Given the description of an element on the screen output the (x, y) to click on. 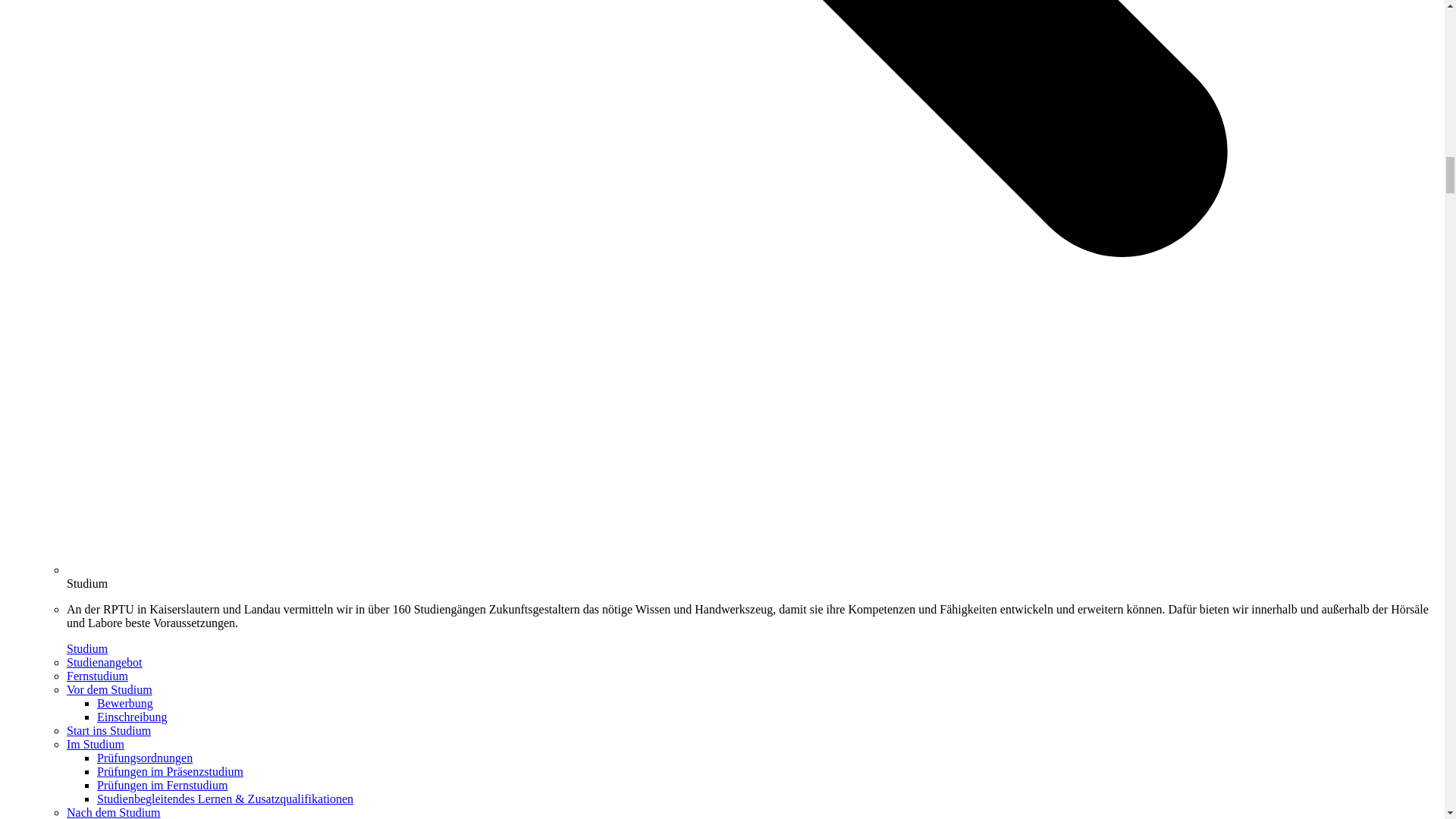
Studium (86, 648)
Vor dem Studium (109, 689)
Start ins Studium (108, 730)
Im Studium (94, 744)
Studienangebot (104, 662)
Bewerbung (124, 703)
Einschreibung (132, 716)
Nach dem Studium (113, 812)
Fernstudium (97, 675)
